Given the description of an element on the screen output the (x, y) to click on. 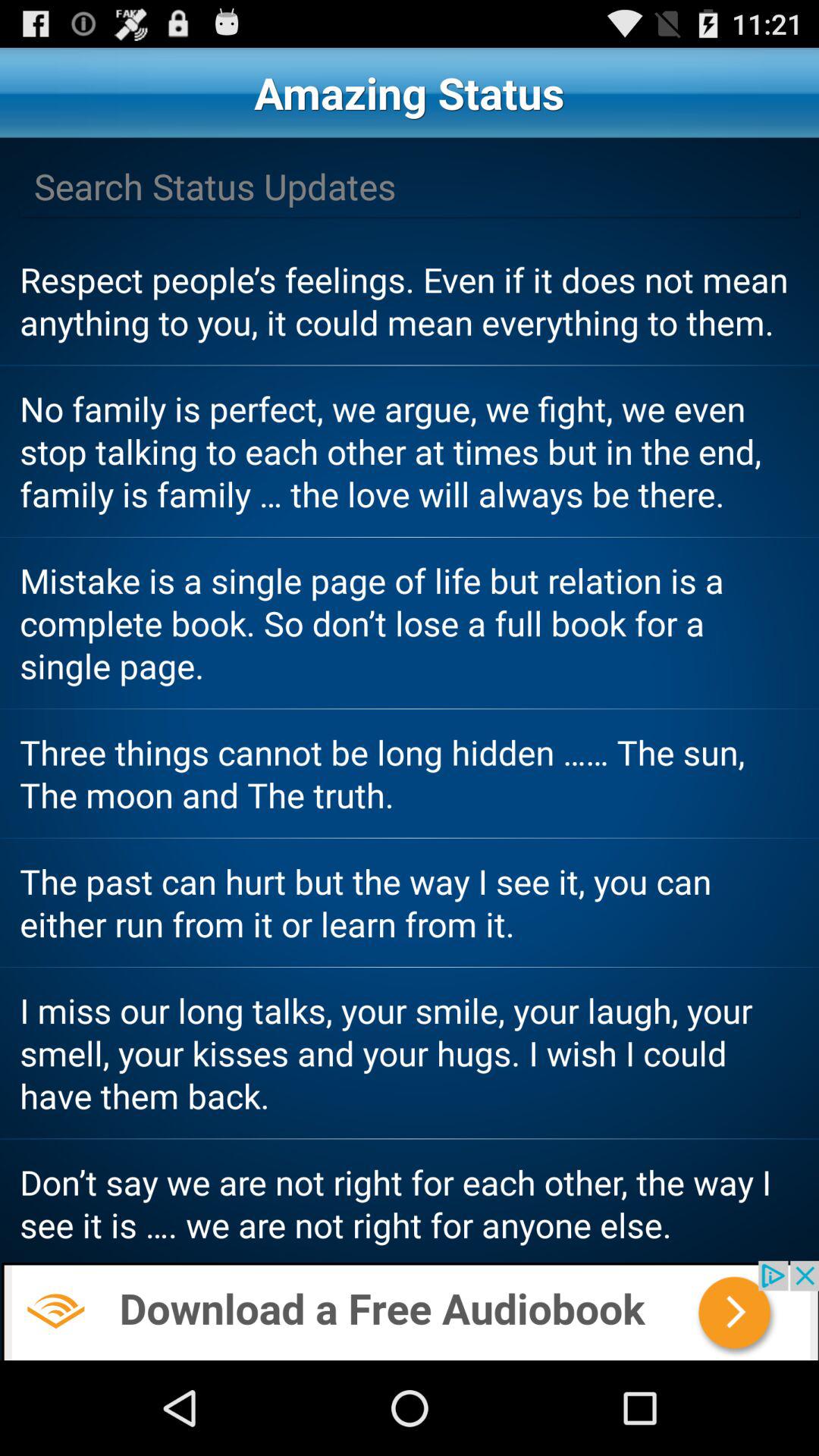
advertisement page (409, 1310)
